Given the description of an element on the screen output the (x, y) to click on. 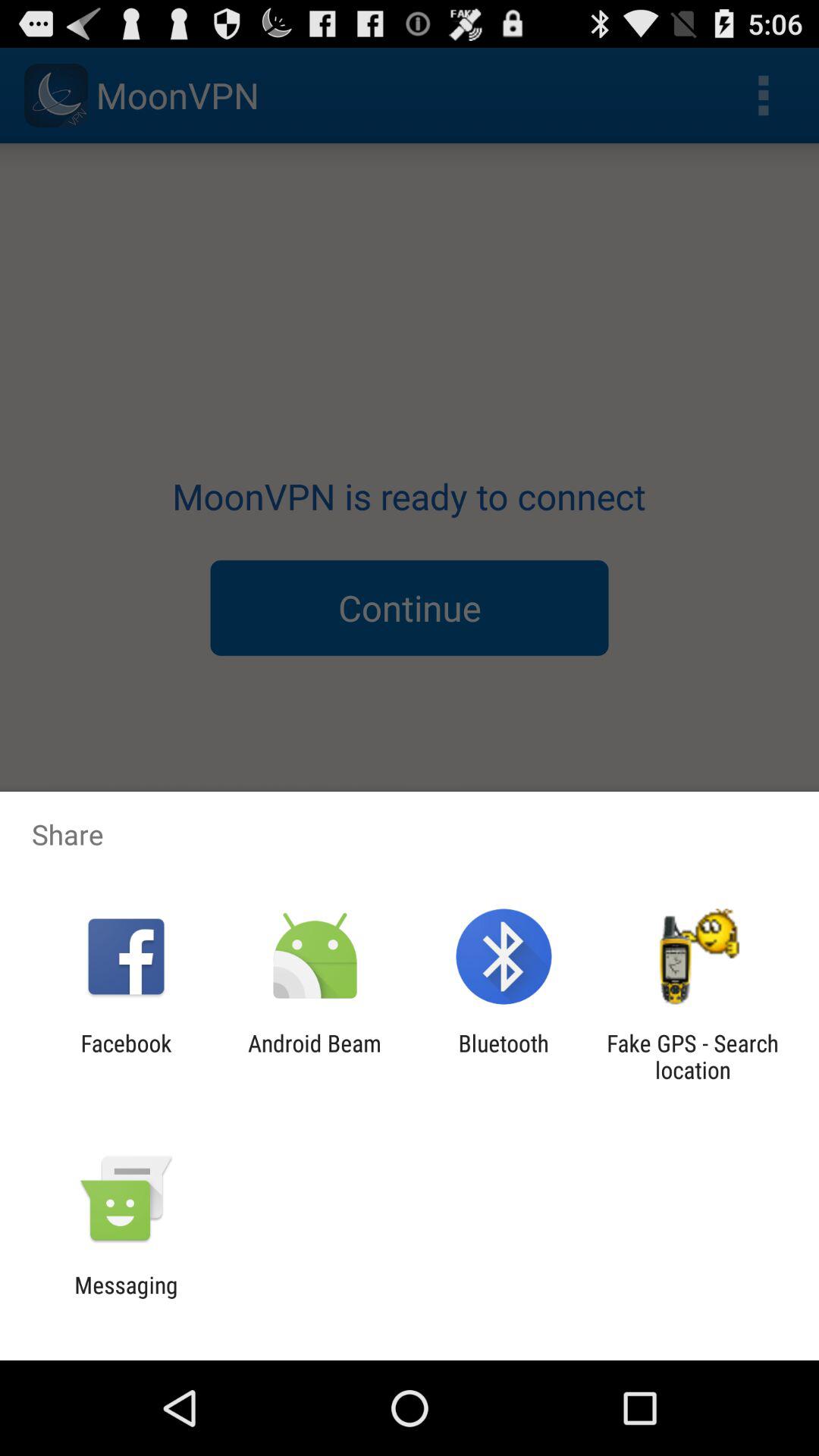
launch android beam app (314, 1056)
